Given the description of an element on the screen output the (x, y) to click on. 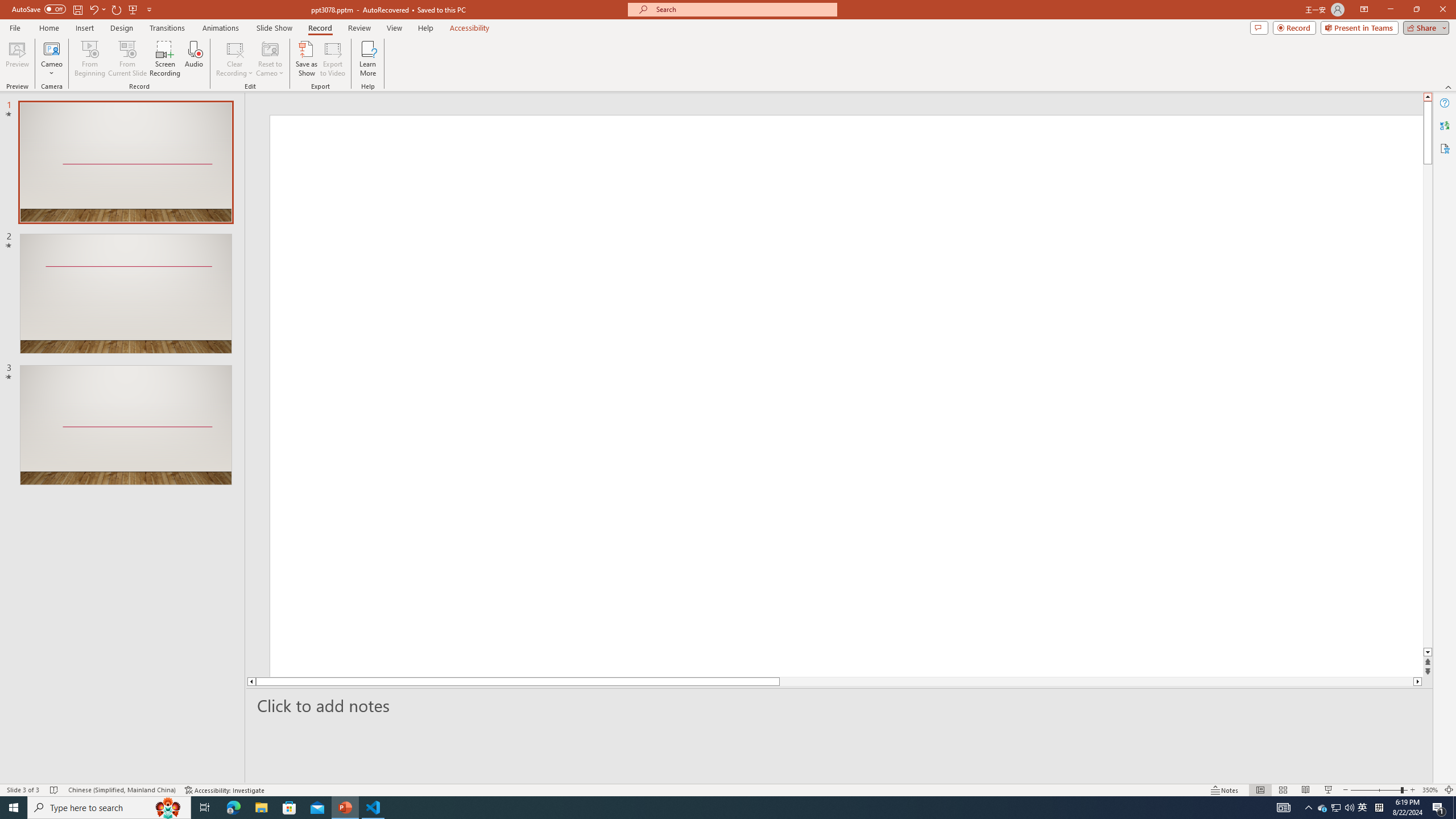
An abstract genetic concept (834, 395)
